Given the description of an element on the screen output the (x, y) to click on. 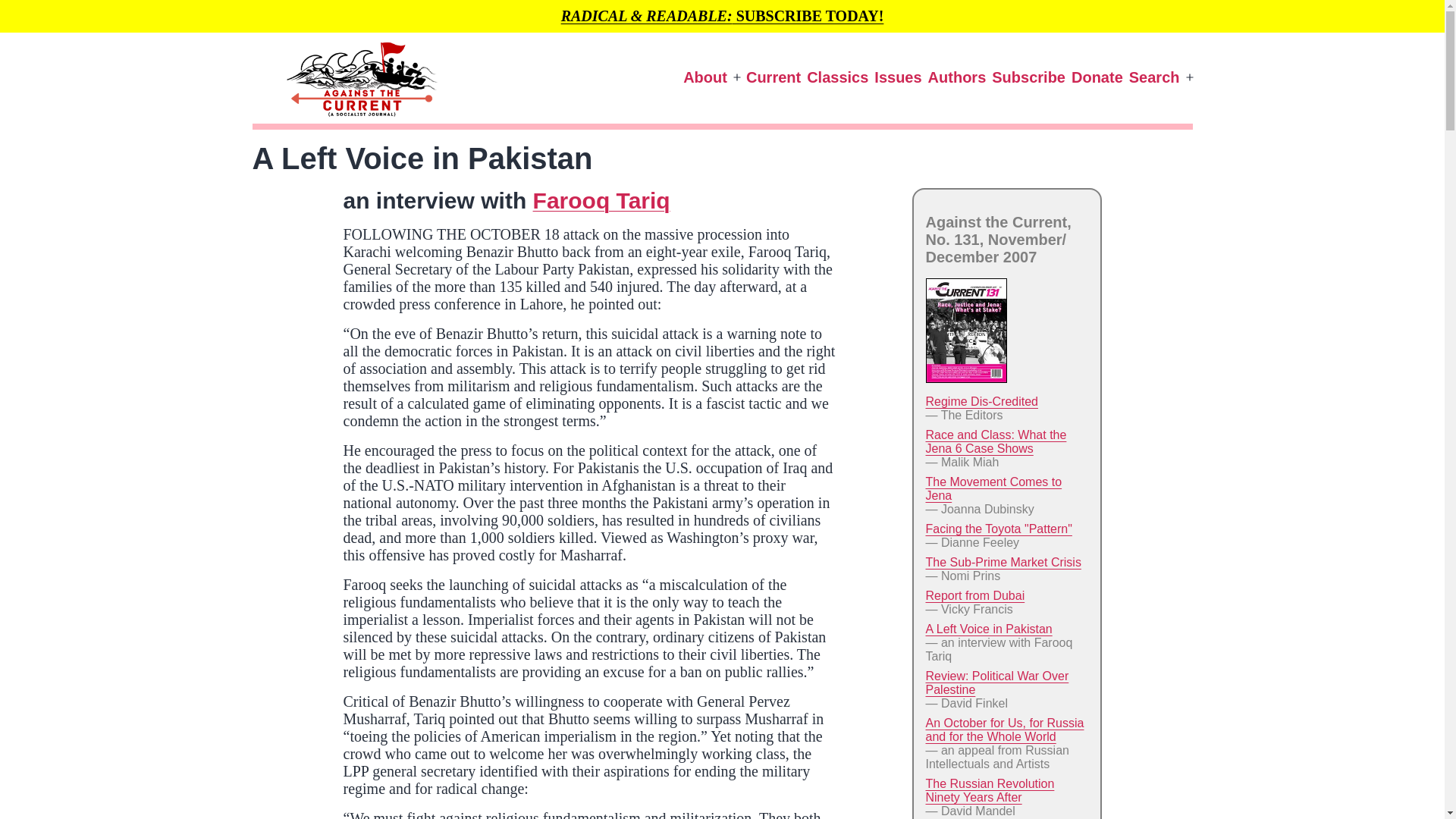
Current (772, 78)
Issues (897, 78)
Race and Class: What the Jena 6 Case Shows (994, 441)
About (704, 78)
Donate (1096, 78)
The Movement Comes to Jena (992, 488)
Classics (836, 78)
Subscribe (1028, 78)
A Left Voice in Pakistan (987, 628)
Search (1153, 78)
